Given the description of an element on the screen output the (x, y) to click on. 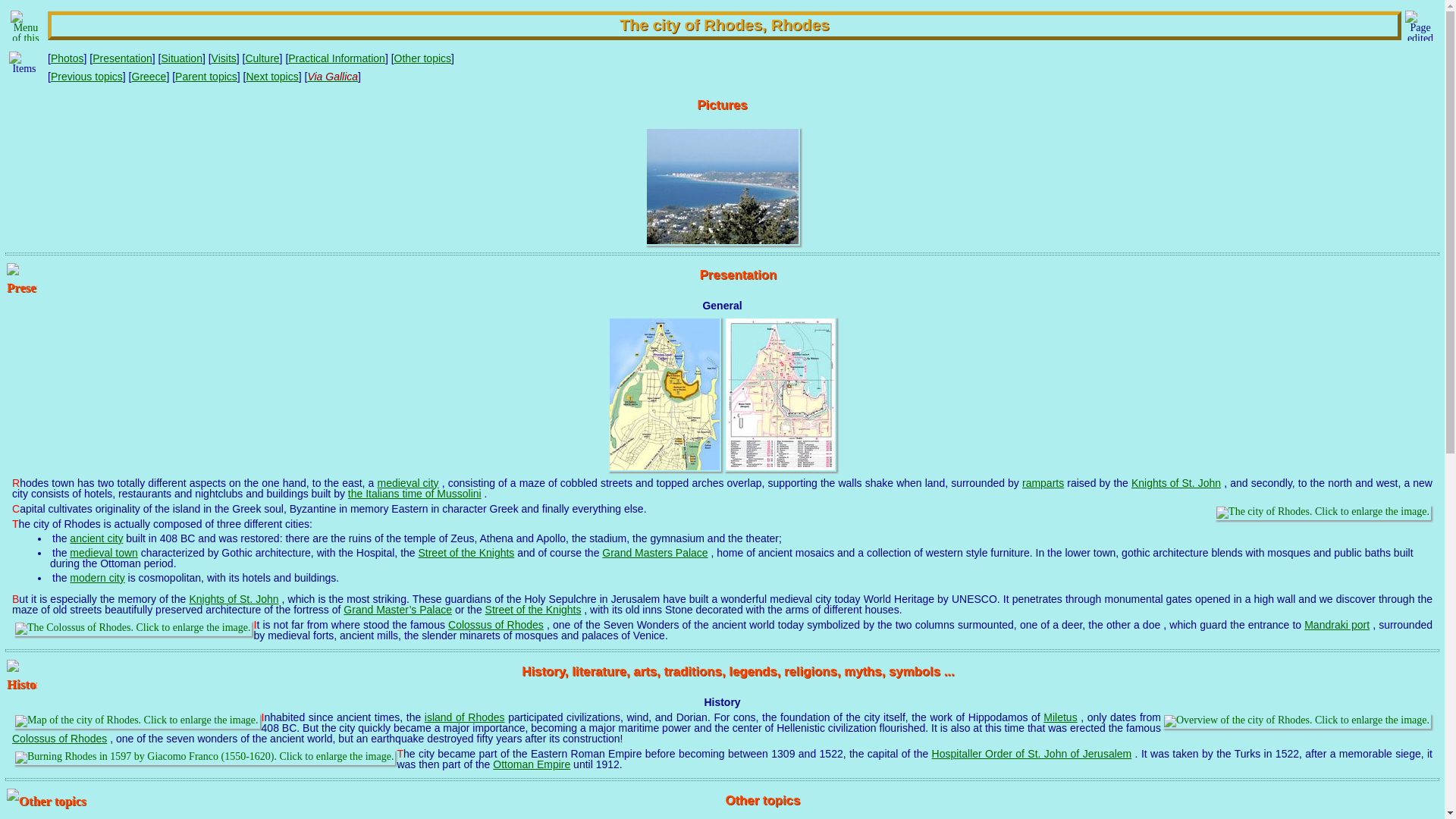
The city of Rhodes. Click to enlarge the image. (1322, 512)
Items (23, 66)
Greece (149, 76)
ancient city (95, 538)
History and traditions (22, 675)
Mandraki port (1337, 624)
Miletus (1060, 717)
Other topics (422, 58)
medieval town (103, 552)
medieval city (408, 482)
Colossus of Rhodes (58, 738)
Rhodes town to the west. Click to enlarge the image. (722, 186)
Next topics (272, 76)
Presentation (738, 274)
